Given the description of an element on the screen output the (x, y) to click on. 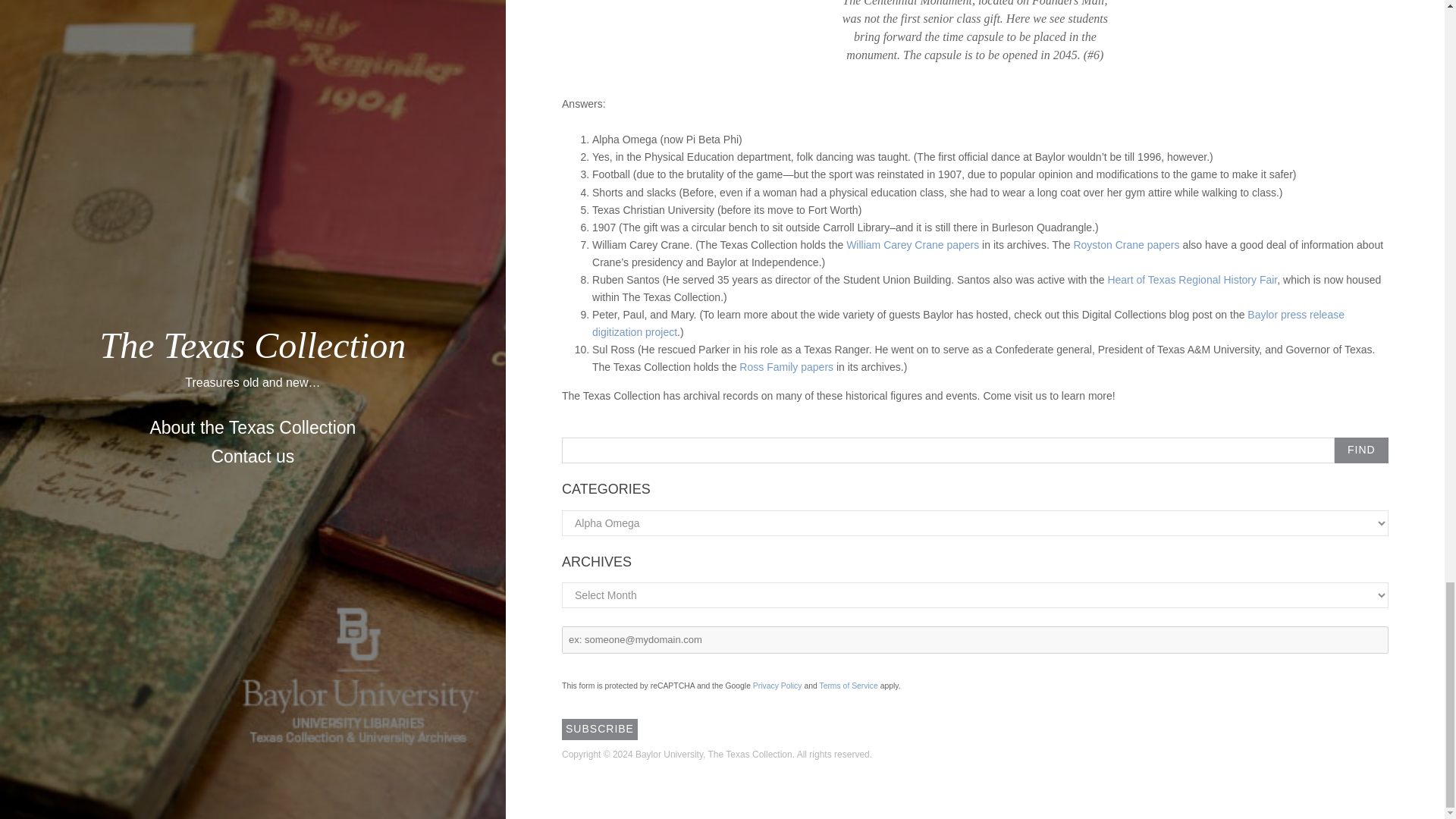
Find (1362, 450)
Subscribe (599, 729)
William Carey Crane papers (911, 244)
Heart of Texas Regional History Fair (1191, 279)
Royston Crane papers (1126, 244)
